Given the description of an element on the screen output the (x, y) to click on. 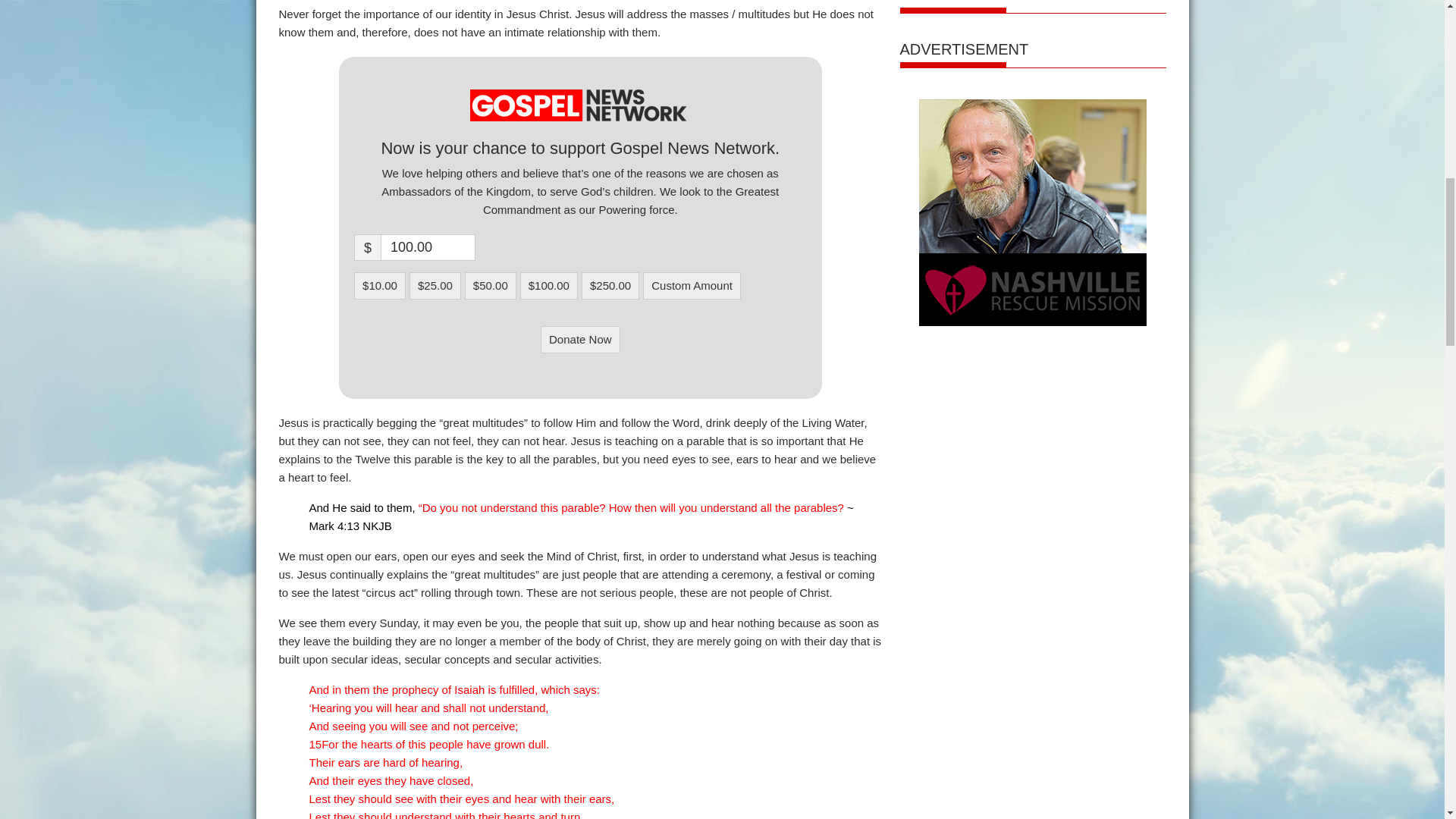
100.00 (428, 247)
